Given the description of an element on the screen output the (x, y) to click on. 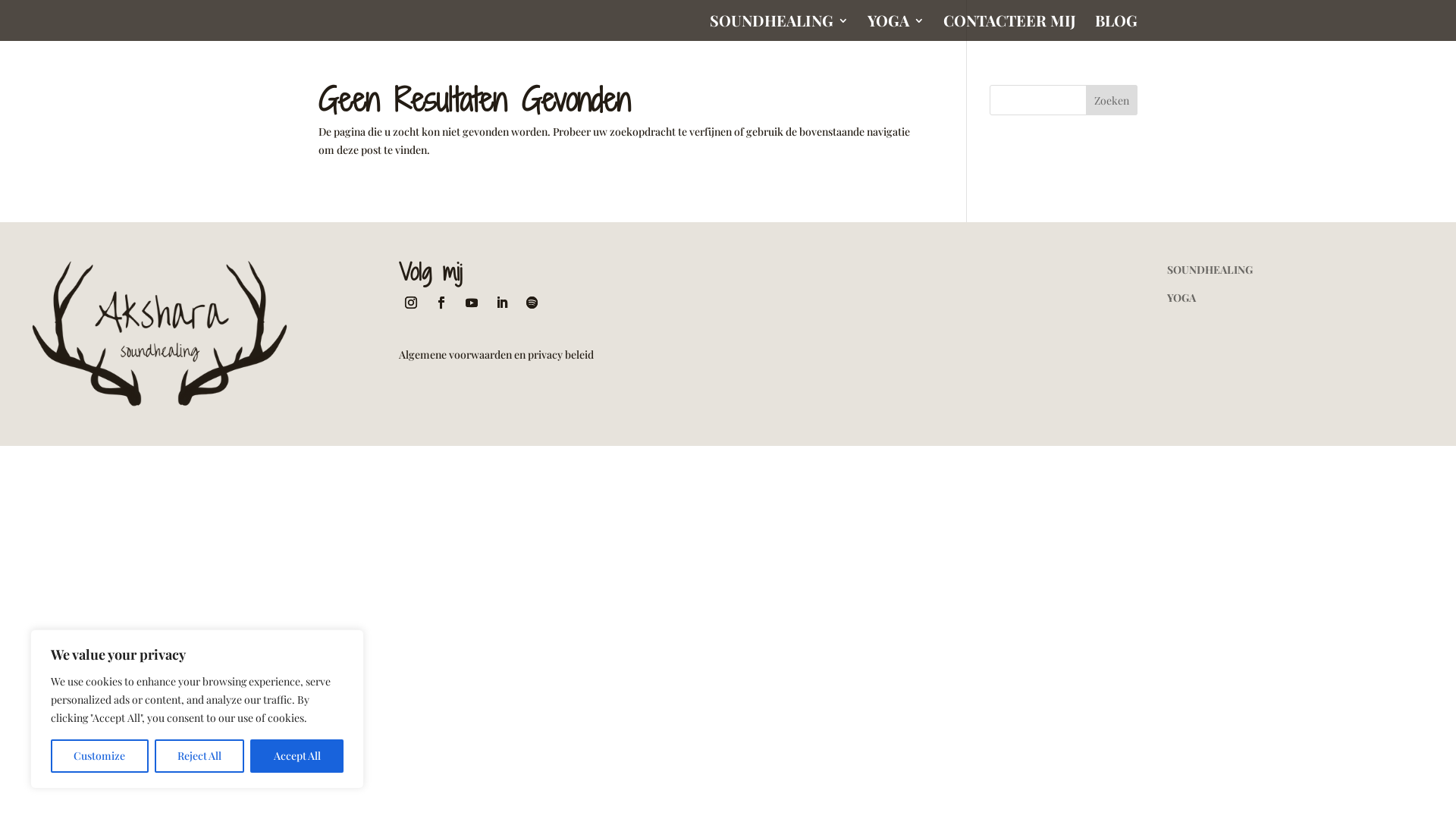
SOUNDHEALING Element type: text (778, 27)
akshara-logo-zwart Element type: hover (159, 335)
YOGA Element type: text (895, 27)
Zoeken Element type: text (1111, 99)
Volg op Instagram Element type: hover (410, 302)
Volg op Youtube Element type: hover (471, 302)
Volg op Facebook Element type: hover (441, 302)
Volg op LinkedIn Element type: hover (501, 302)
Customize Element type: text (99, 755)
CONTACTEER MIJ Element type: text (1009, 27)
Reject All Element type: text (199, 755)
Accept All Element type: text (296, 755)
Volg op Spotify Element type: hover (532, 302)
SOUNDHEALING Element type: text (1209, 269)
YOGA Element type: text (1181, 297)
BLOG Element type: text (1116, 27)
